Given the description of an element on the screen output the (x, y) to click on. 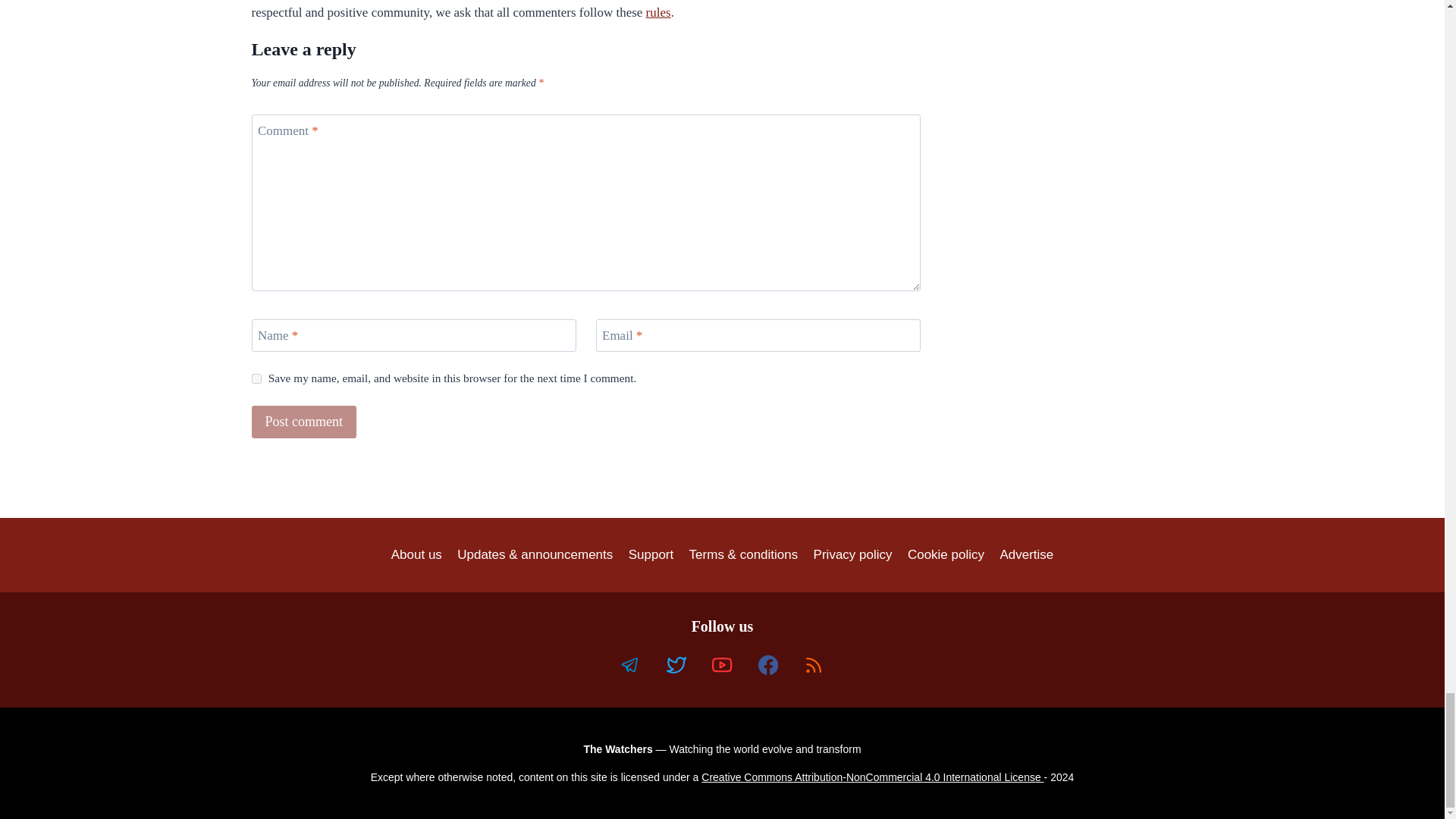
yes (256, 378)
Post comment (303, 421)
